Given the description of an element on the screen output the (x, y) to click on. 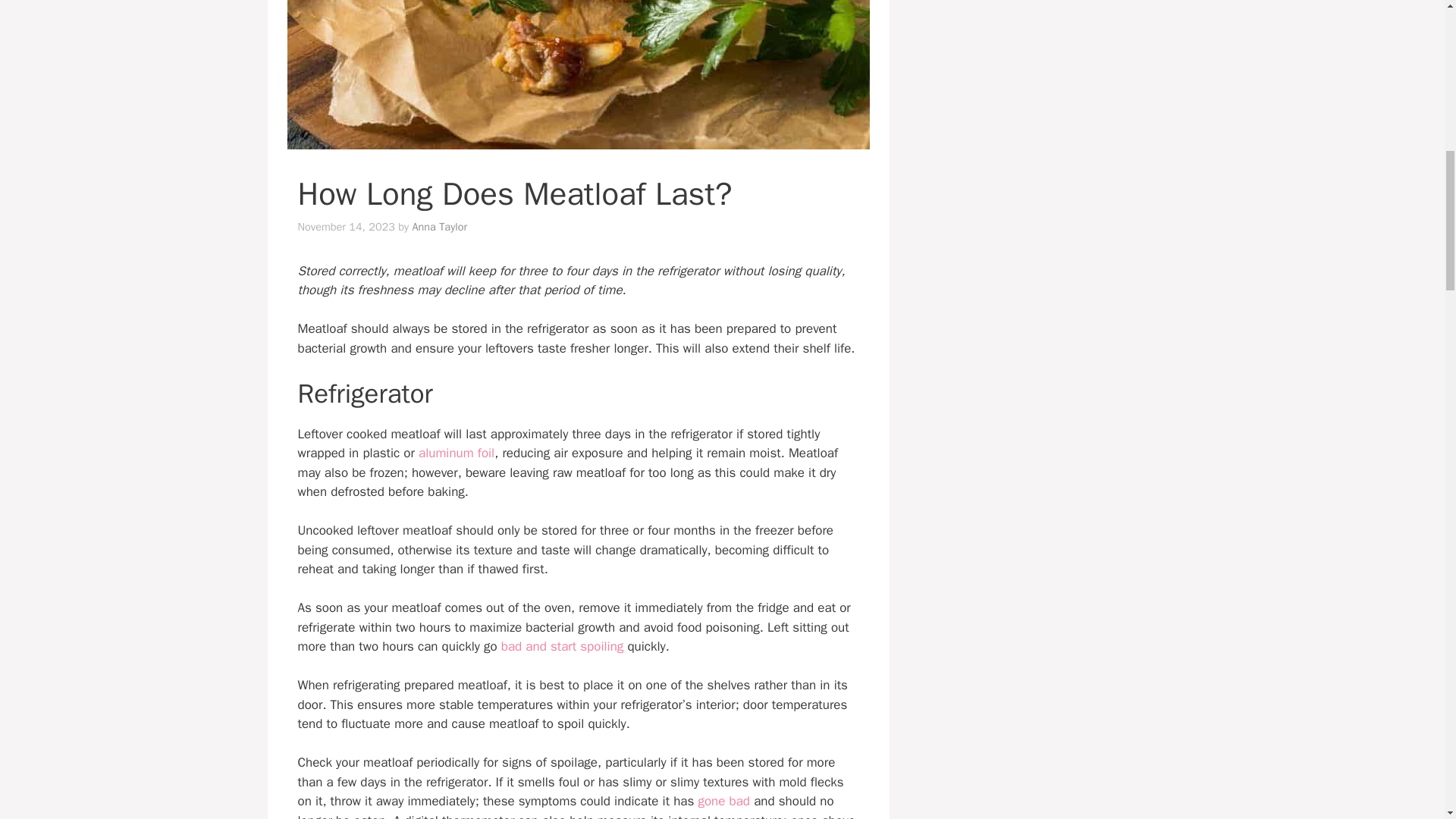
aluminum foil (457, 453)
gone bad (723, 801)
bad and start spoiling (562, 646)
Anna Taylor (439, 226)
View all posts by Anna Taylor (439, 226)
